Given the description of an element on the screen output the (x, y) to click on. 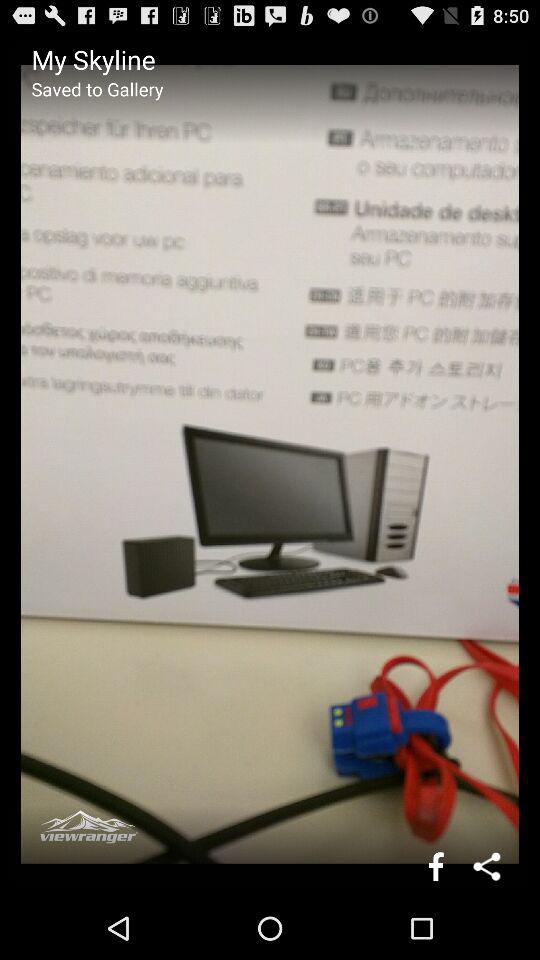
facebook (436, 866)
